Given the description of an element on the screen output the (x, y) to click on. 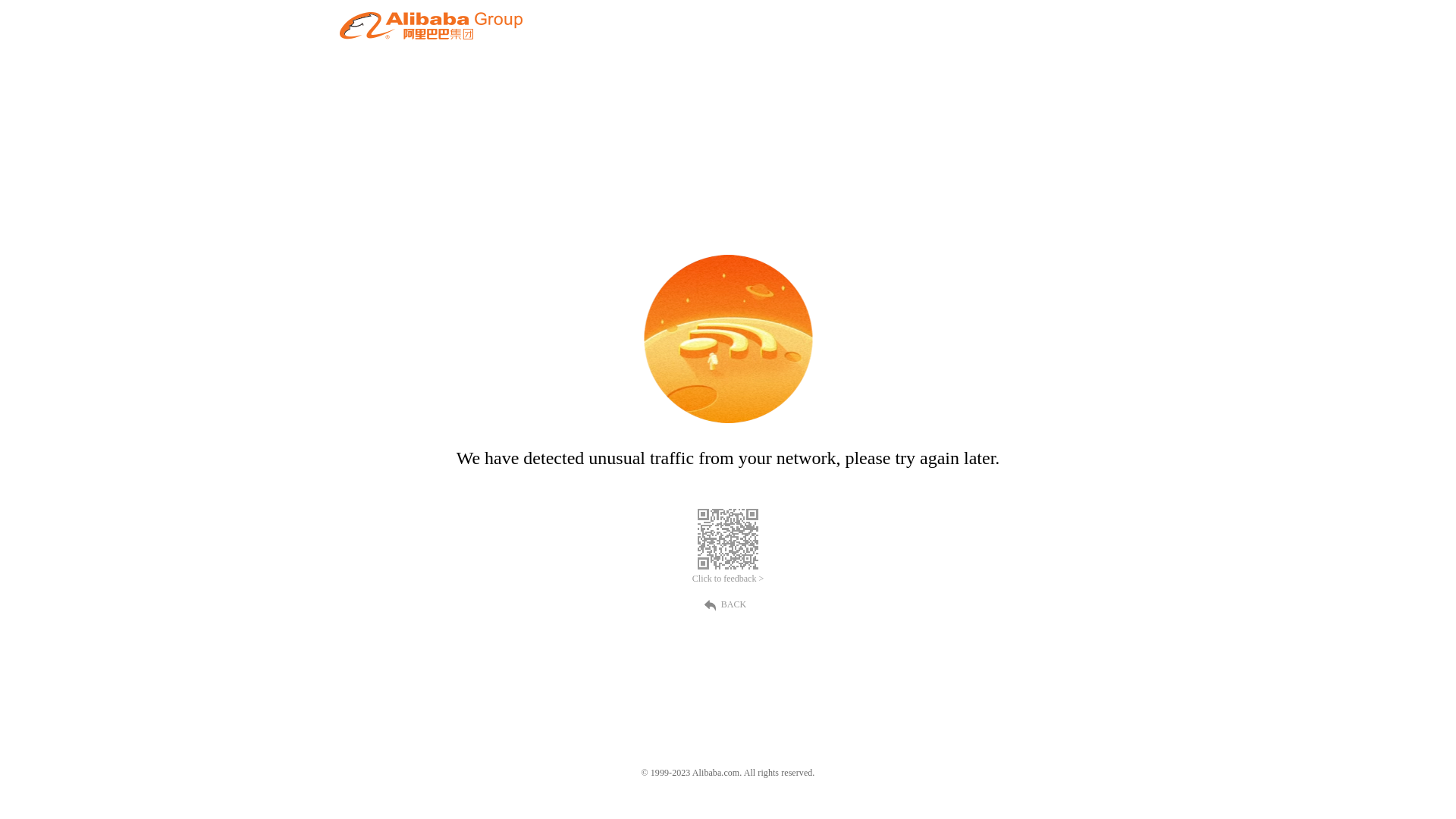
BACK Element type: text (727, 603)
Click to feedback > Element type: text (727, 578)
